Given the description of an element on the screen output the (x, y) to click on. 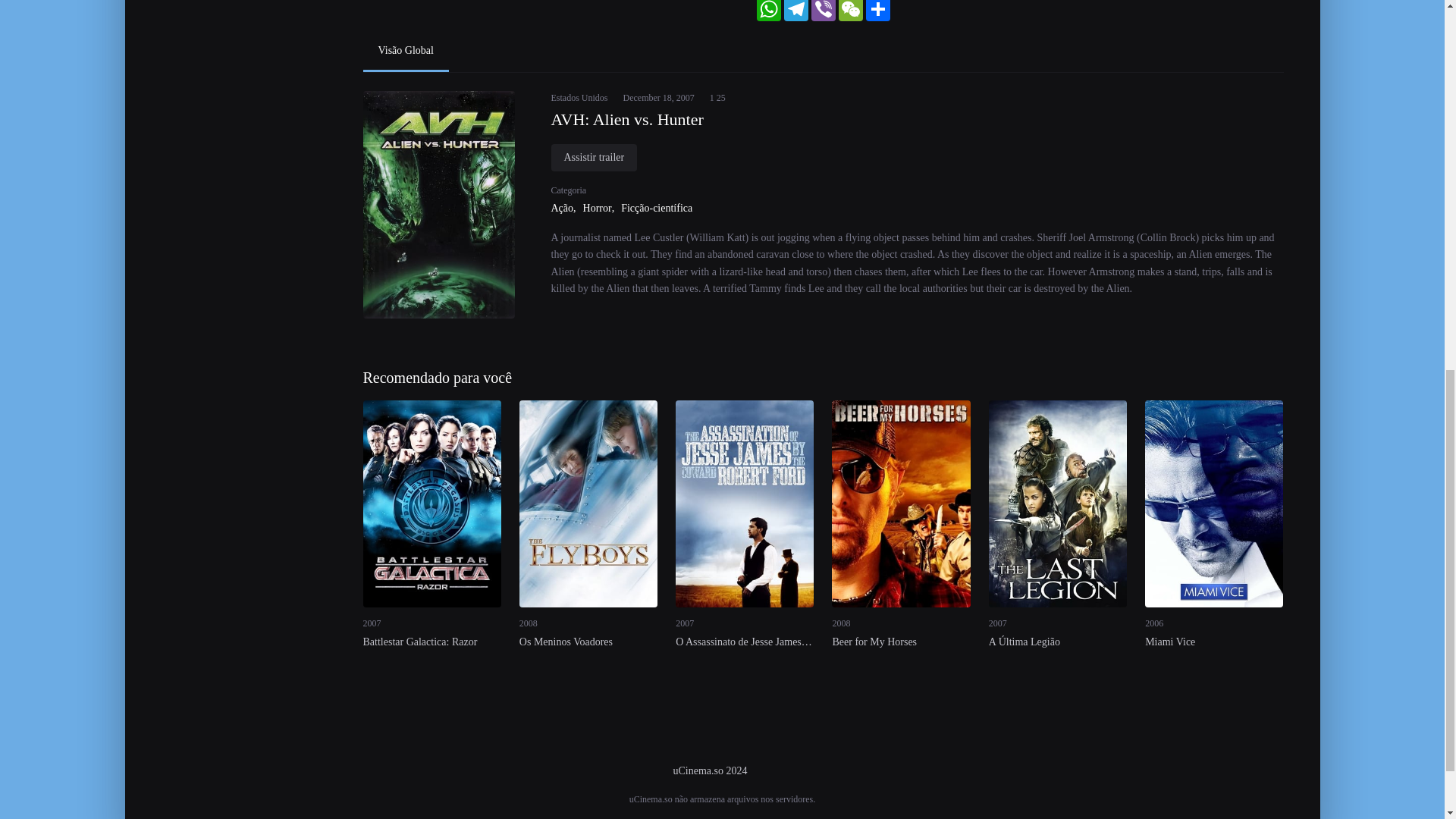
WhatsApp (769, 10)
Horror (600, 207)
Viber (823, 10)
WeChat (850, 10)
Share (877, 10)
Assistir trailer (593, 157)
Telegram (796, 10)
